Given the description of an element on the screen output the (x, y) to click on. 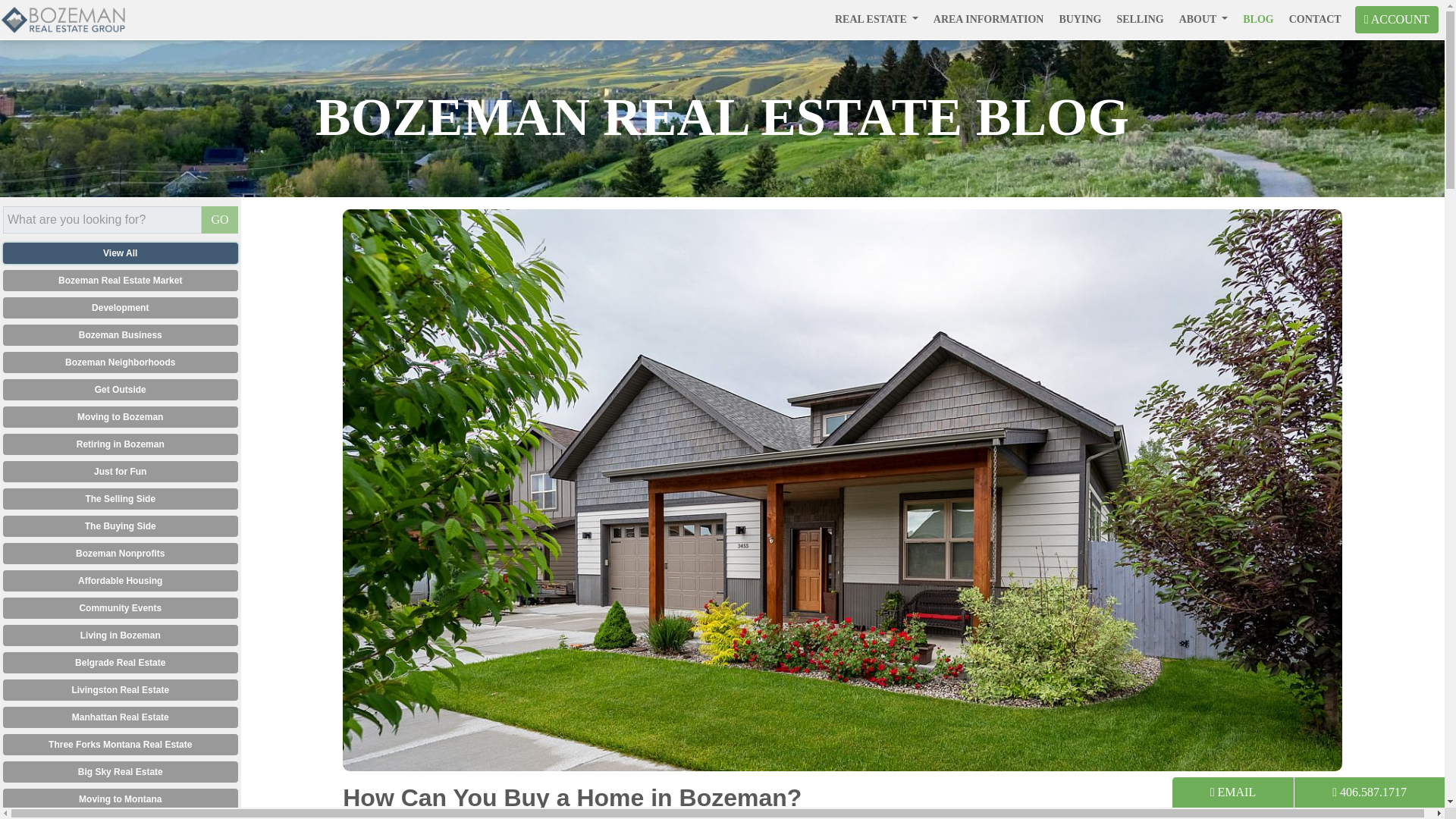
The Buying Side (120, 526)
Bozeman Real Estate Market (120, 280)
AREA INFORMATION (988, 19)
Development (120, 307)
Livingston Real Estate (120, 690)
GO (219, 219)
Just for Fun (120, 471)
Three Forks Montana Real Estate (120, 744)
Manhattan Real Estate (120, 717)
Community Events (120, 608)
REAL ESTATE (876, 19)
ACCOUNT (1396, 19)
Belgrade Real Estate (120, 662)
Moving to Bozeman (120, 416)
Living in Bozeman (120, 635)
